Given the description of an element on the screen output the (x, y) to click on. 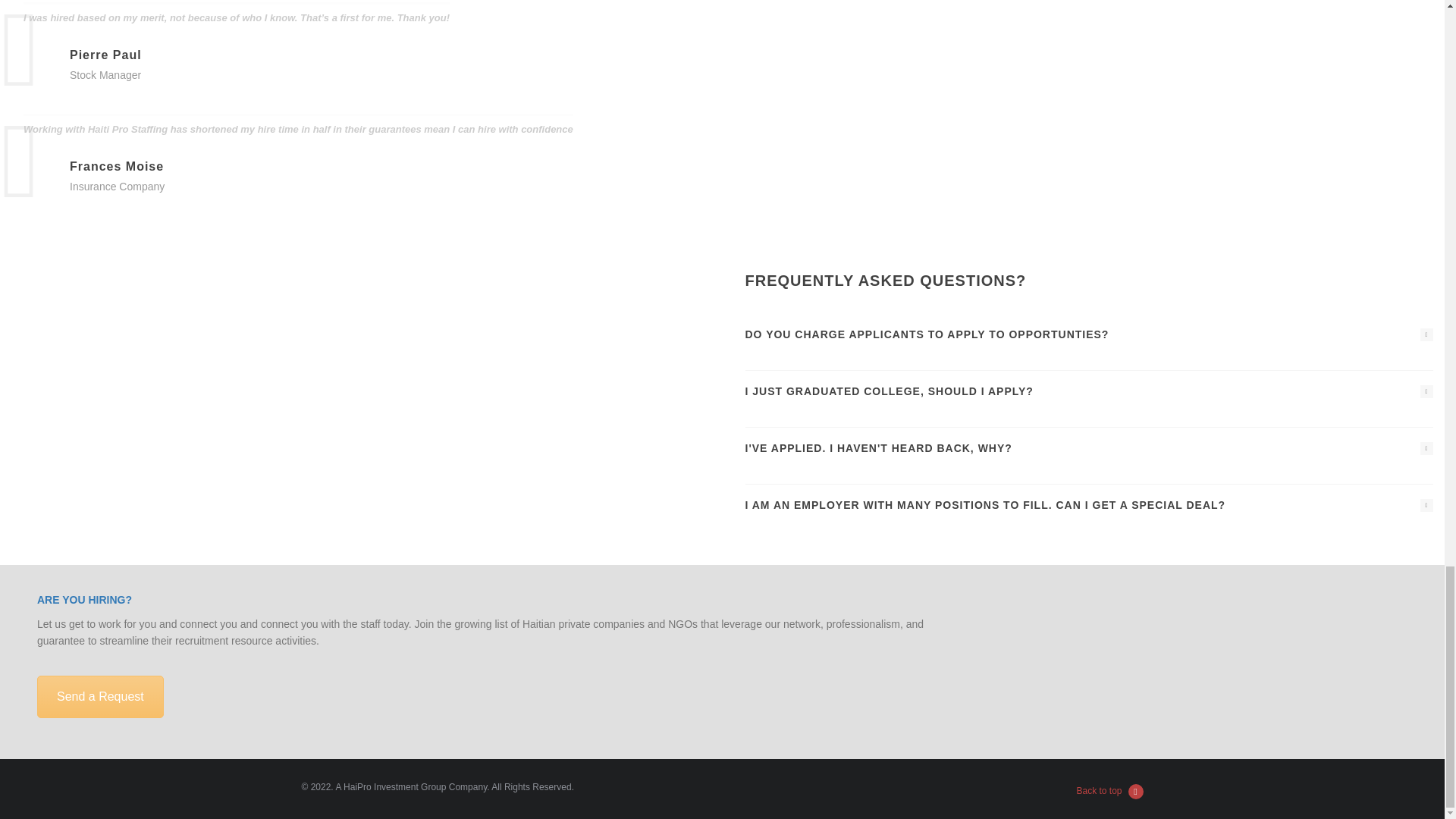
DO YOU CHARGE APPLICANTS TO APPLY TO OPPORTUNTIES? (1088, 334)
Contact Us (100, 696)
